Given the description of an element on the screen output the (x, y) to click on. 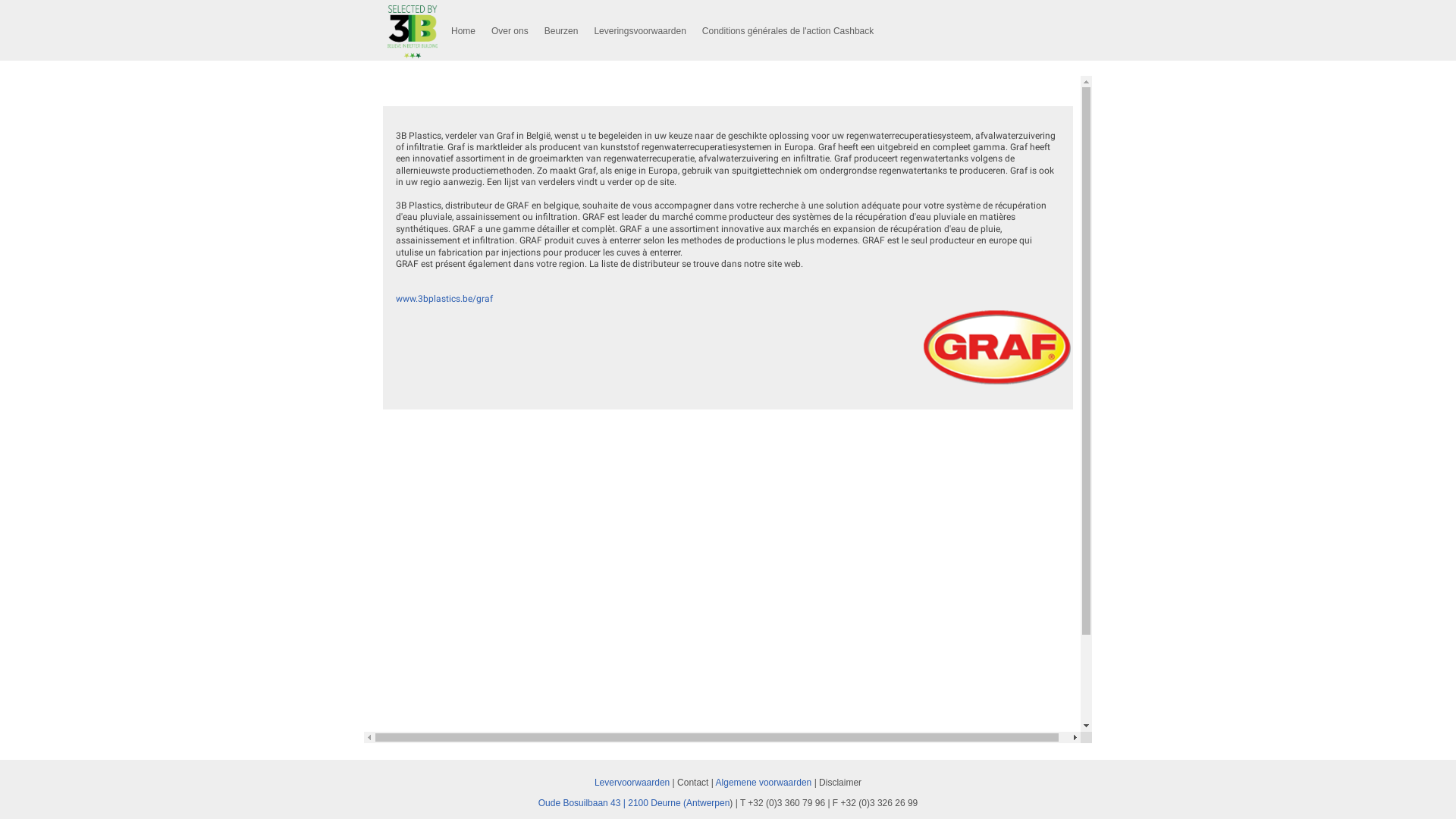
Algemene voorwaarden Element type: text (763, 781)
www.3bplastics.be/graf Element type: text (443, 298)
http://3bplastics.be/ Element type: hover (412, 31)
  Element type: text (812, 781)
Levervoorwaarden Element type: text (631, 781)
Leveringsvoorwaarden Element type: text (639, 31)
Beurzen Element type: text (561, 31)
http://3bplastics.be/ Element type: hover (997, 347)
Home Element type: text (462, 31)
Oude Bosuilbaan 43 | 2100 Deurne (Antwerpen Element type: text (634, 802)
Over ons Element type: text (509, 31)
